Given the description of an element on the screen output the (x, y) to click on. 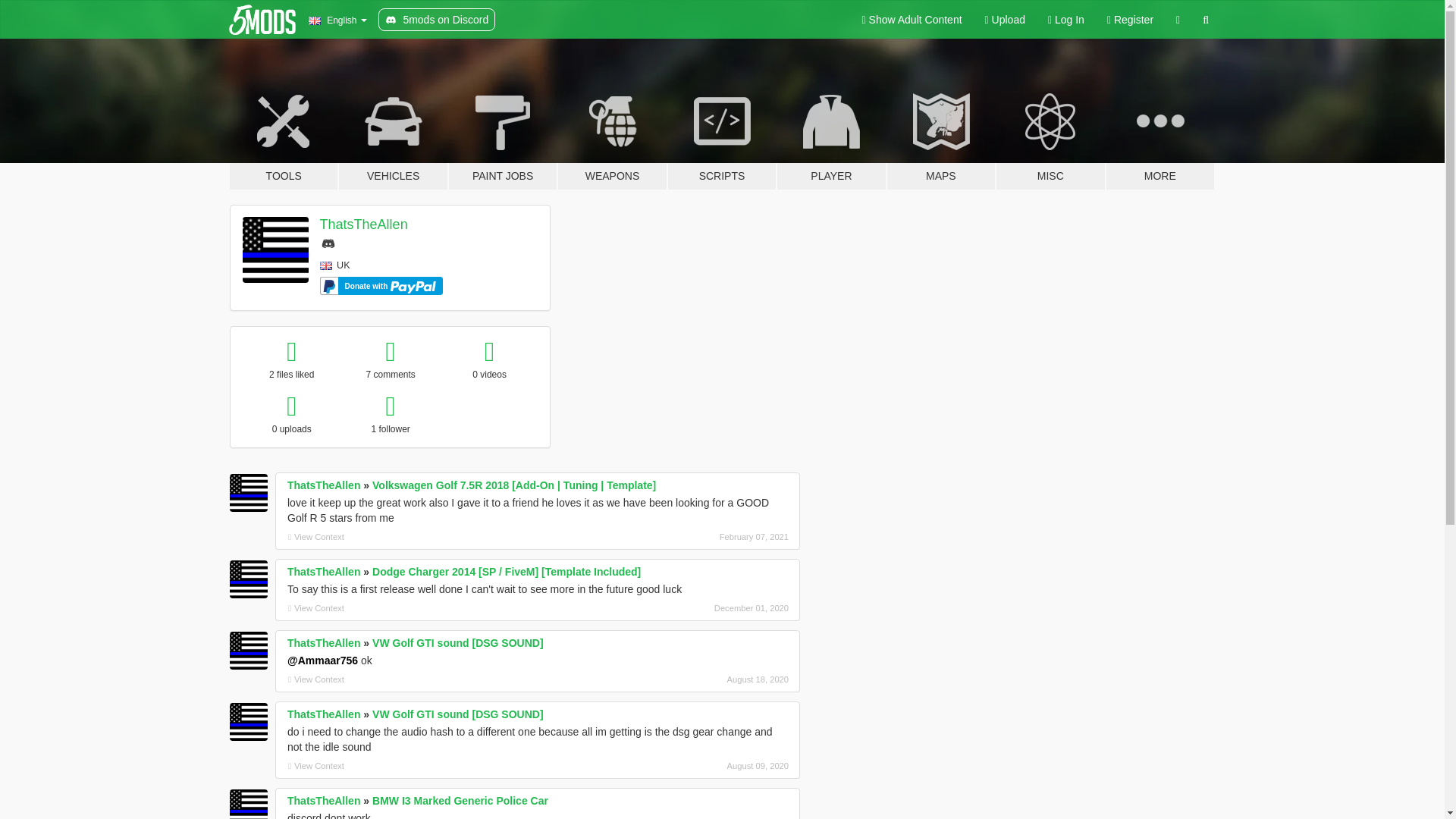
Discord Server (328, 243)
Log In (1066, 19)
5mods on Discord (436, 19)
Light mode (912, 19)
Upload (1005, 19)
United Kingdom (325, 265)
Register (1130, 19)
Show Adult Content (912, 19)
  English (337, 19)
